Given the description of an element on the screen output the (x, y) to click on. 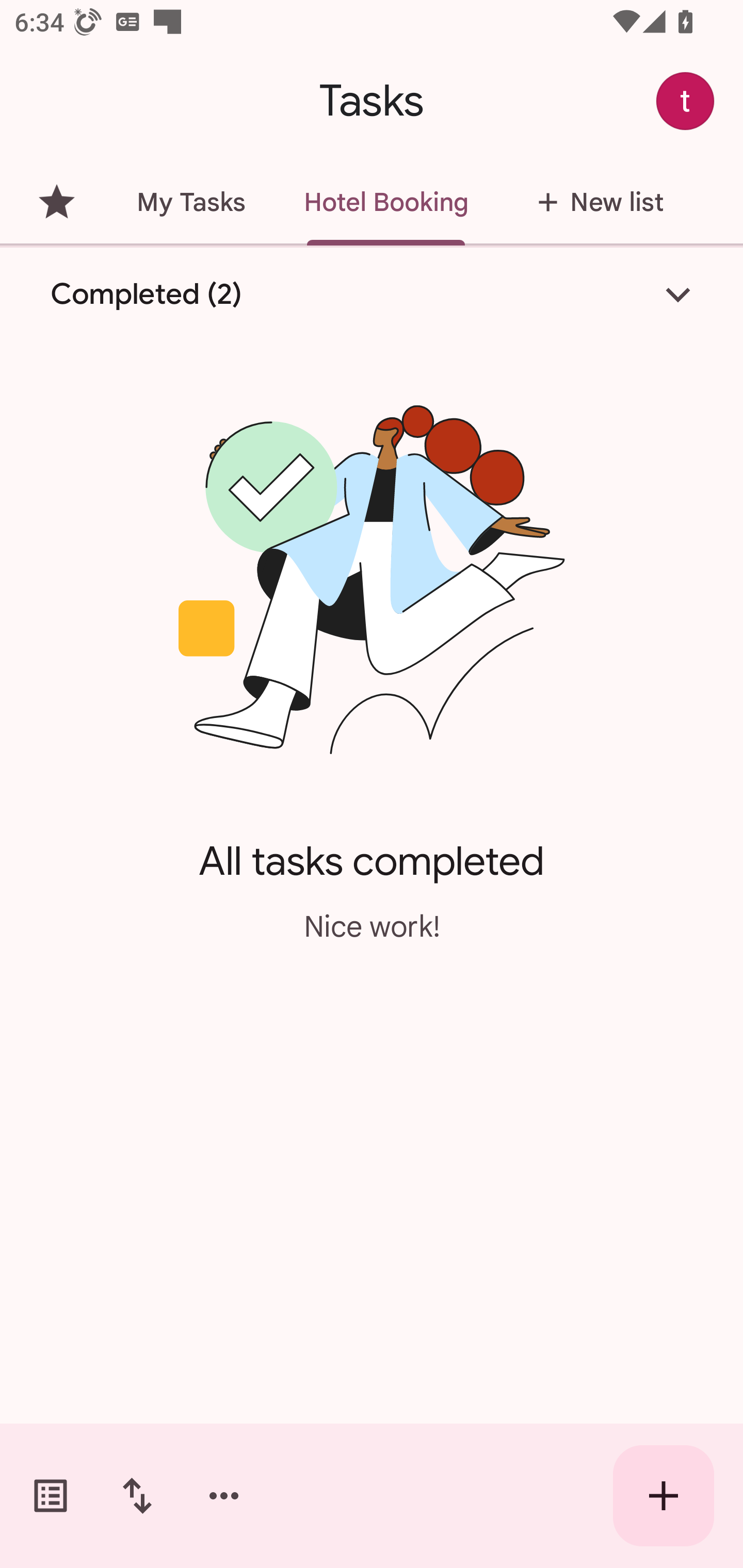
Starred (55, 202)
My Tasks (190, 202)
New list (594, 202)
Completed (2) (371, 294)
Switch task lists (50, 1495)
Create new task (663, 1495)
Change sort order (136, 1495)
More options (223, 1495)
